Given the description of an element on the screen output the (x, y) to click on. 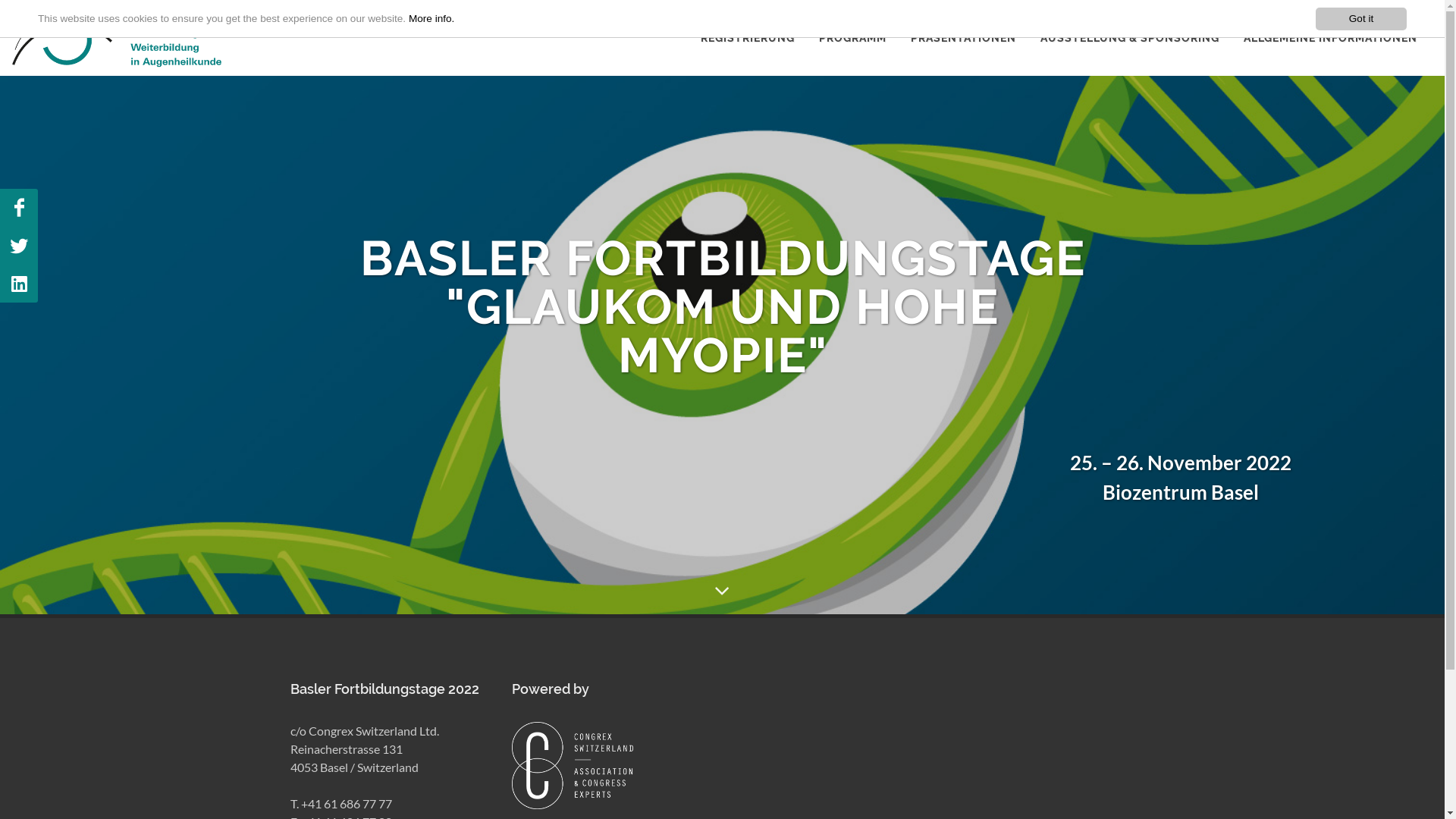
Got it Element type: text (1360, 18)
PROGRAMM Element type: text (852, 37)
+41 61 686 77 77 Element type: text (345, 803)
REGISTRIERUNG Element type: text (747, 37)
AUSSTELLUNG & SPONSORING Element type: text (1129, 37)
More info. Element type: text (431, 18)
ALLGEMEINE INFORMATIONEN Element type: text (1330, 37)
